Given the description of an element on the screen output the (x, y) to click on. 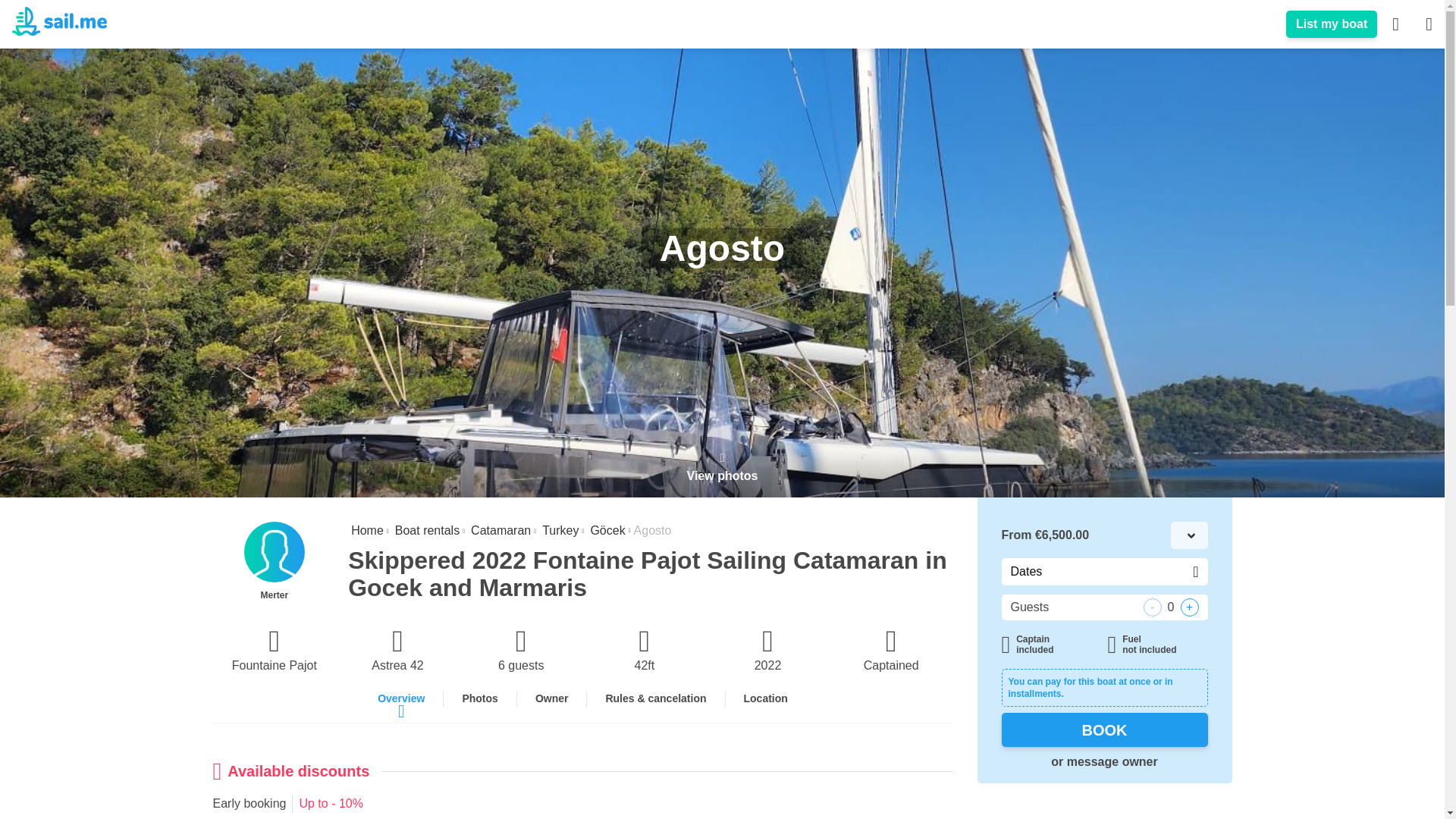
Length (644, 650)
Click to visit sail.me's home page (365, 530)
Home (365, 530)
Click to visit Merter (274, 561)
- (1151, 607)
Capacity (521, 650)
List my boat (1331, 23)
Merter (274, 561)
Click to visit sail.me's Boat Owner page (1331, 23)
Model (398, 650)
Catamaran (499, 530)
Builder (274, 650)
Catamarans boats on sail.me (499, 530)
Year built (767, 650)
Search boats in Turkey (558, 530)
